Given the description of an element on the screen output the (x, y) to click on. 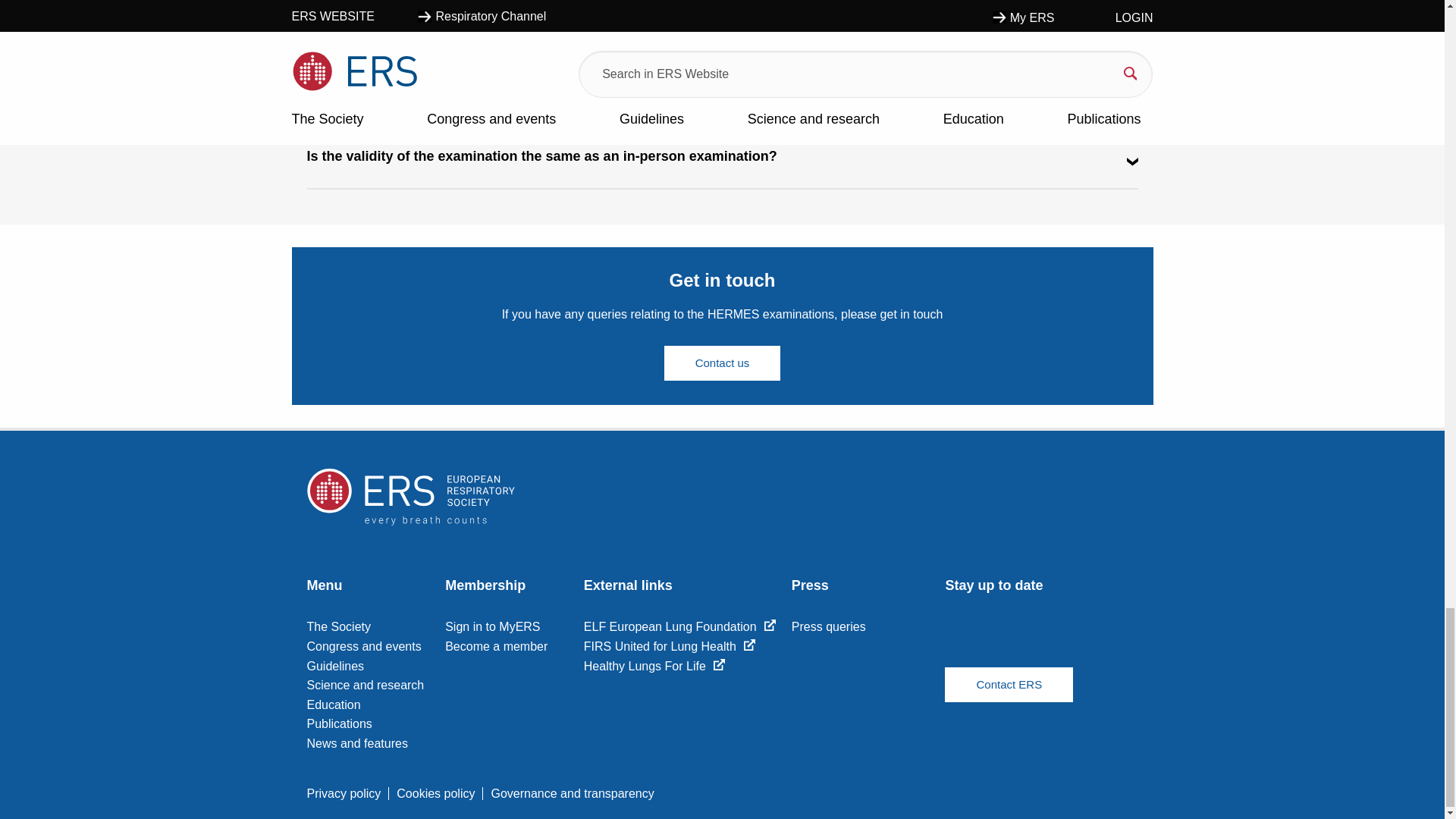
Follow on Facebook (962, 641)
Follow on YouTube (1010, 641)
Follow on Twitter (1059, 641)
Follow on Instagram (1105, 641)
